Given the description of an element on the screen output the (x, y) to click on. 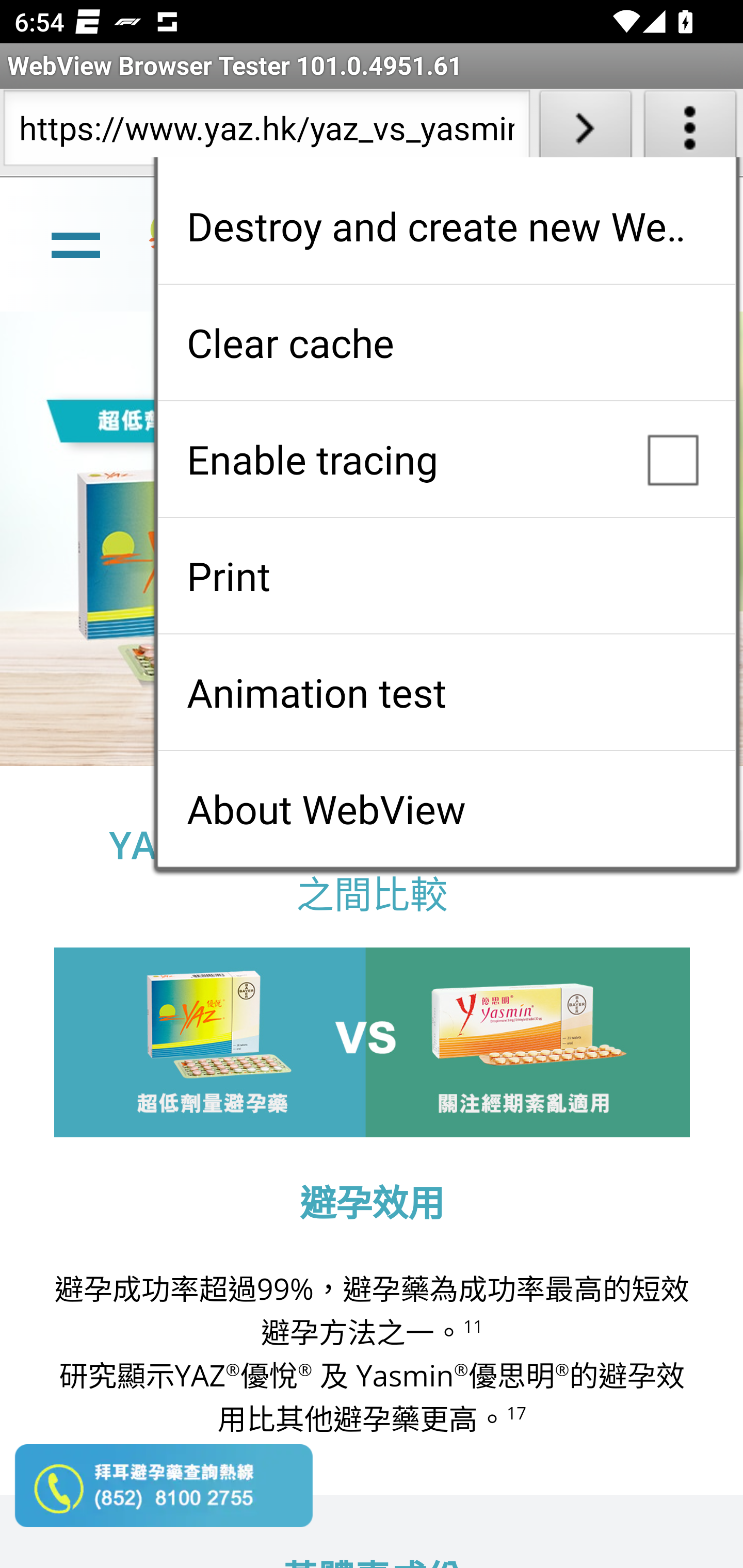
Destroy and create new WebView (446, 225)
Clear cache (446, 342)
Enable tracing (446, 459)
Print (446, 575)
Animation test (446, 692)
About WebView (446, 809)
